Given the description of an element on the screen output the (x, y) to click on. 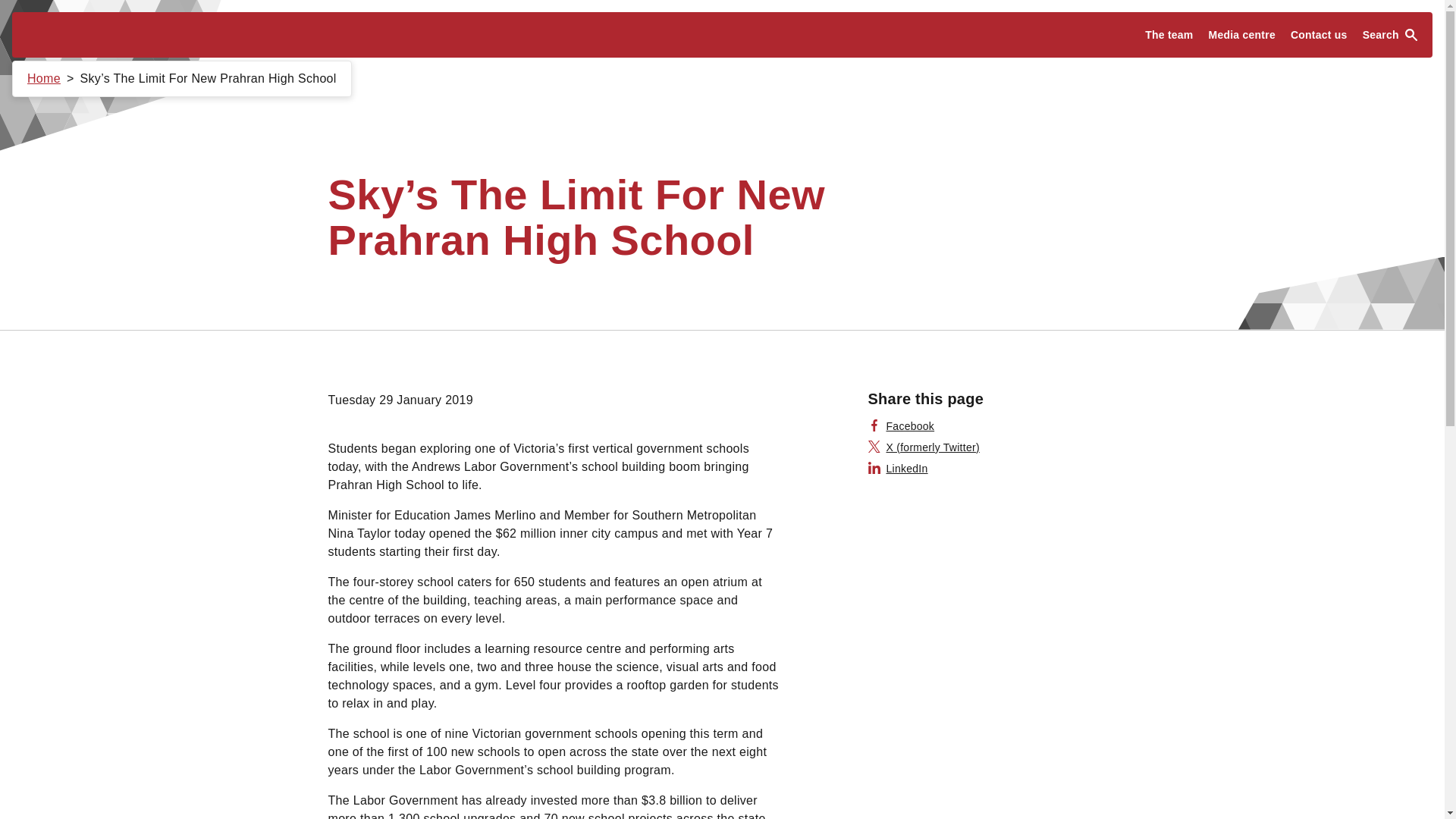
Home (44, 78)
The team (1168, 34)
Media centre (1241, 34)
LinkedIn (897, 468)
Facebook (900, 426)
Contact us (1318, 34)
